Given the description of an element on the screen output the (x, y) to click on. 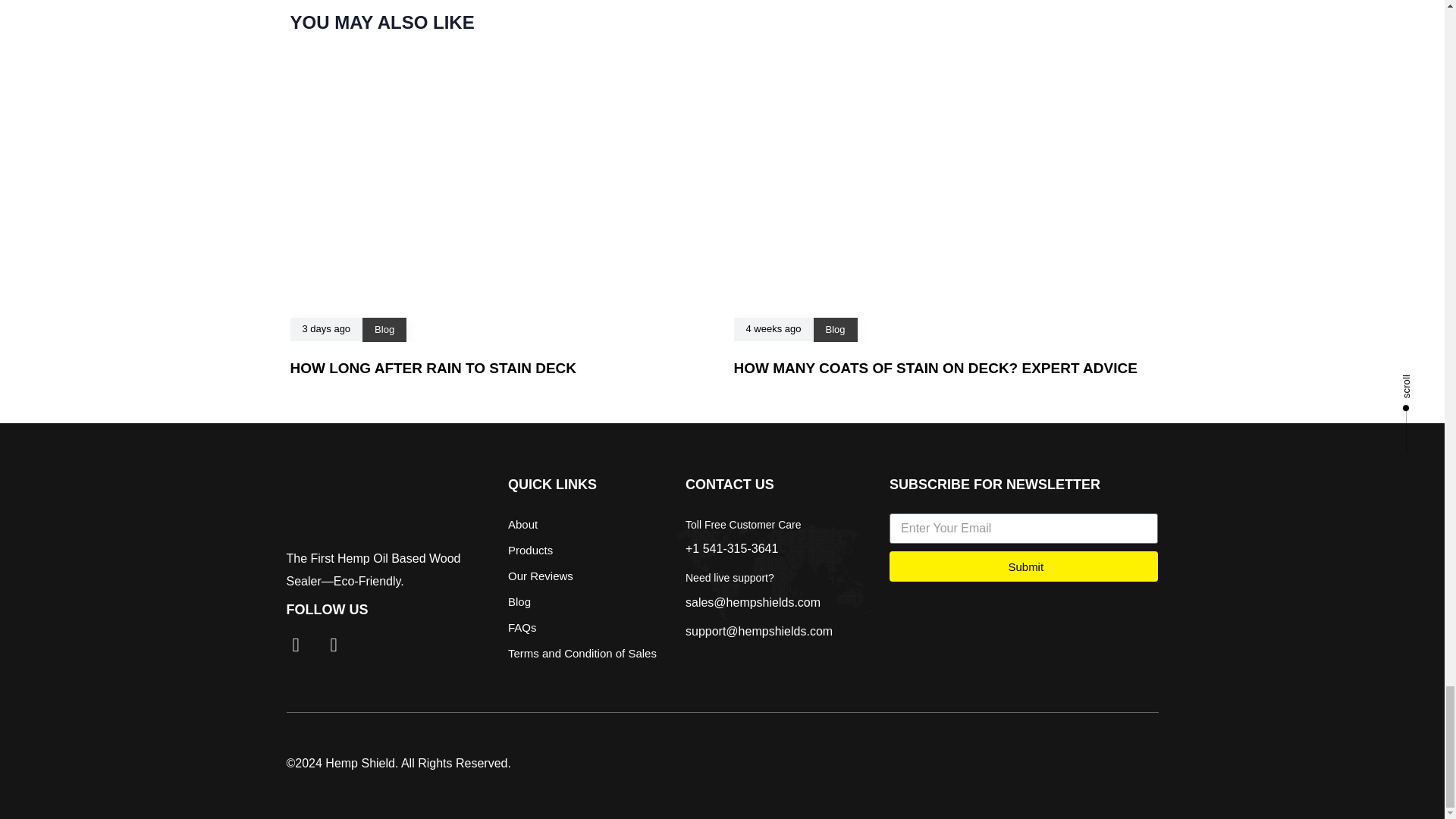
HOW MANY COATS OF STAIN ON DECK? EXPERT ADVICE (935, 367)
Blog (834, 328)
Blog (384, 328)
HOW LONG AFTER RAIN TO STAIN DECK (432, 367)
